Given the description of an element on the screen output the (x, y) to click on. 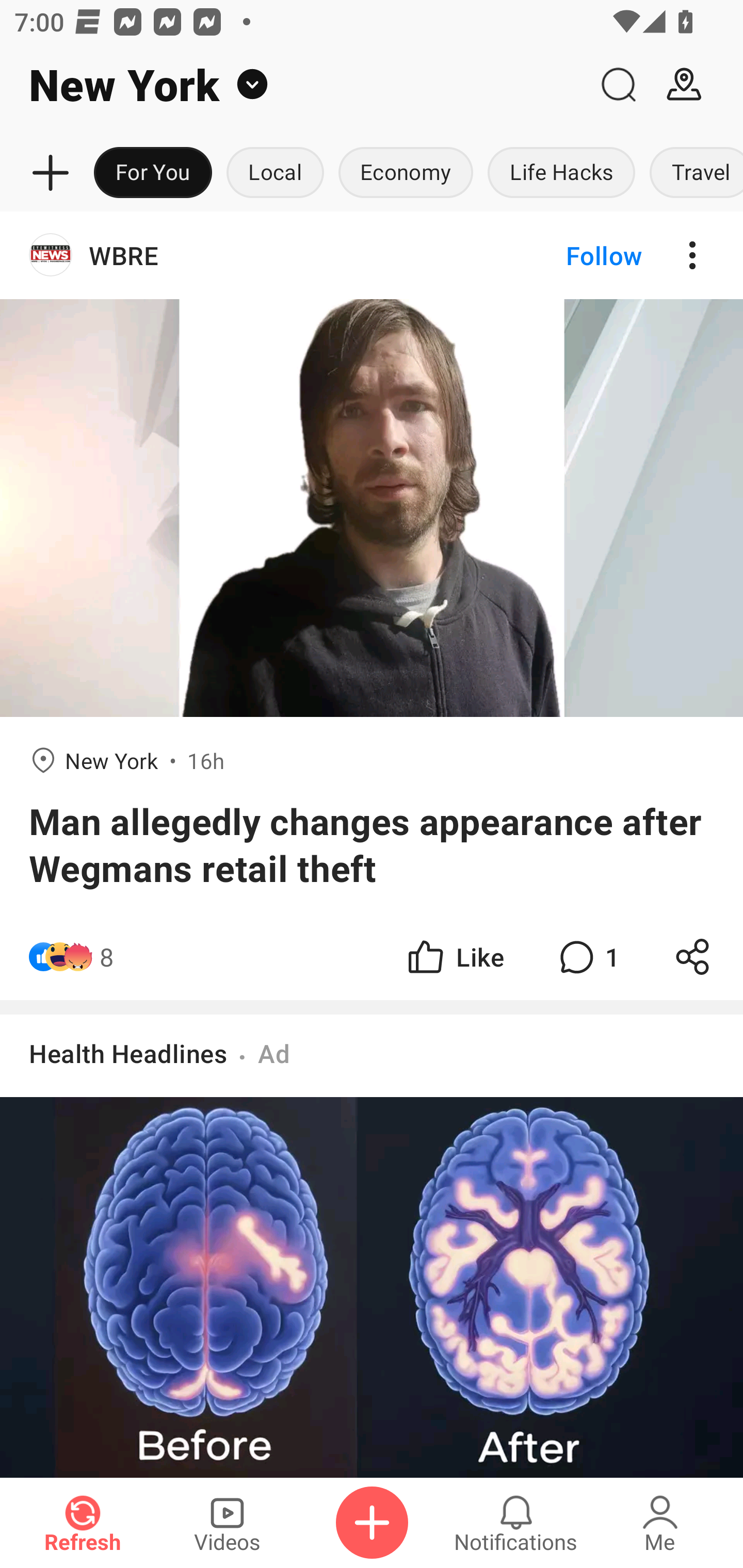
New York (292, 84)
For You (152, 172)
Local (275, 172)
Economy (405, 172)
Life Hacks (561, 172)
Travel (692, 172)
WBRE Follow (371, 255)
Follow (569, 255)
8 (106, 957)
Like (454, 957)
1 (587, 957)
Health Headlines (127, 1053)
Videos (227, 1522)
Notifications (516, 1522)
Me (659, 1522)
